Given the description of an element on the screen output the (x, y) to click on. 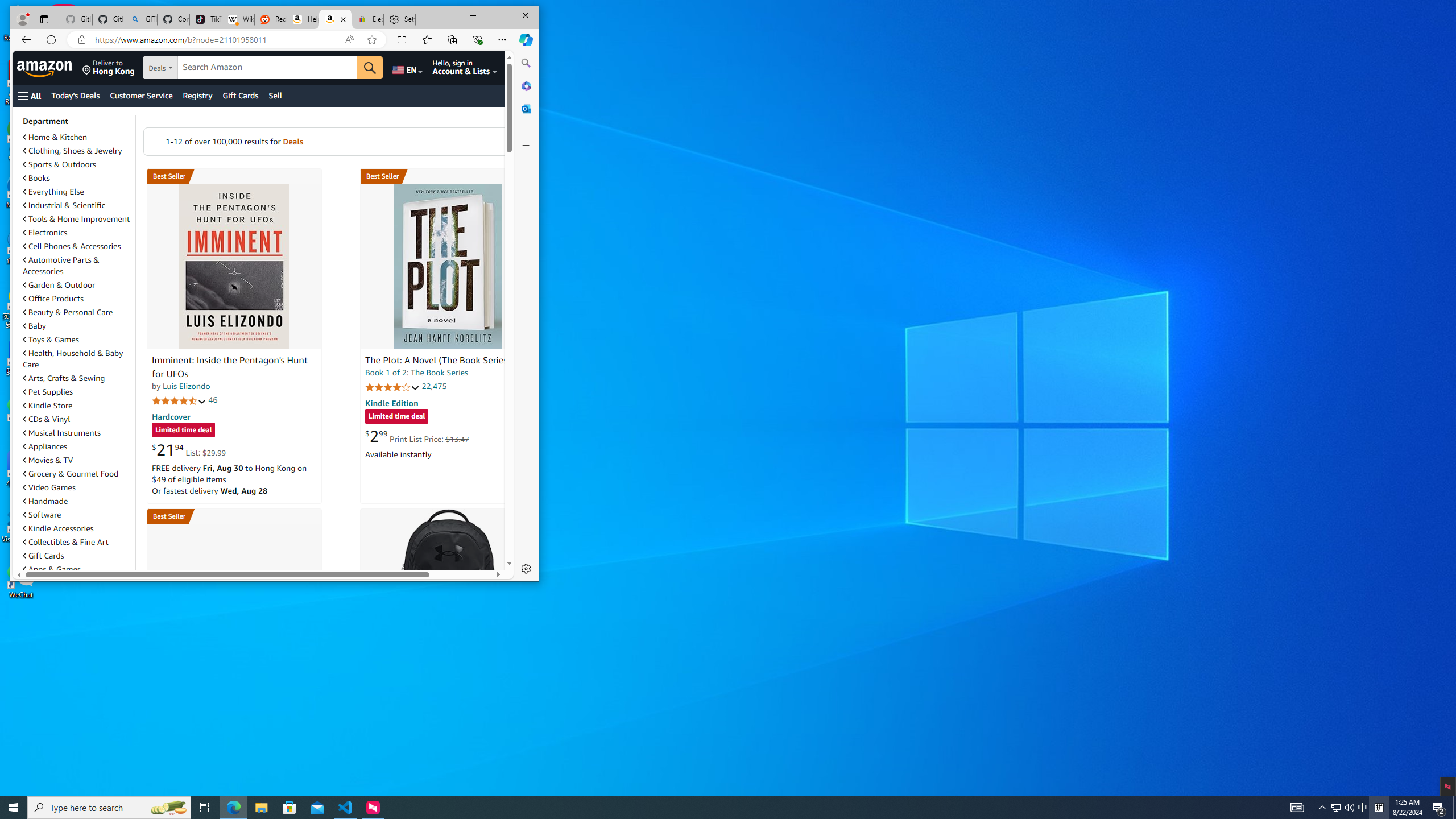
Best Seller in Unexplained Mysteries (234, 175)
Movies & TV (47, 460)
Home & Kitchen (77, 136)
AutomationID: 4105 (1297, 807)
Handmade (45, 501)
4.2 out of 5 stars (392, 386)
Best Seller in Internal Solid State Drives (234, 516)
Imminent: Inside the Pentagon's Hunt for UFOs (234, 265)
Baby (34, 325)
Side bar (525, 315)
4.7 out of 5 stars (178, 400)
File Explorer (261, 807)
Wikipedia, the free encyclopedia (237, 19)
Deliver to Hong Kong (108, 67)
